Given the description of an element on the screen output the (x, y) to click on. 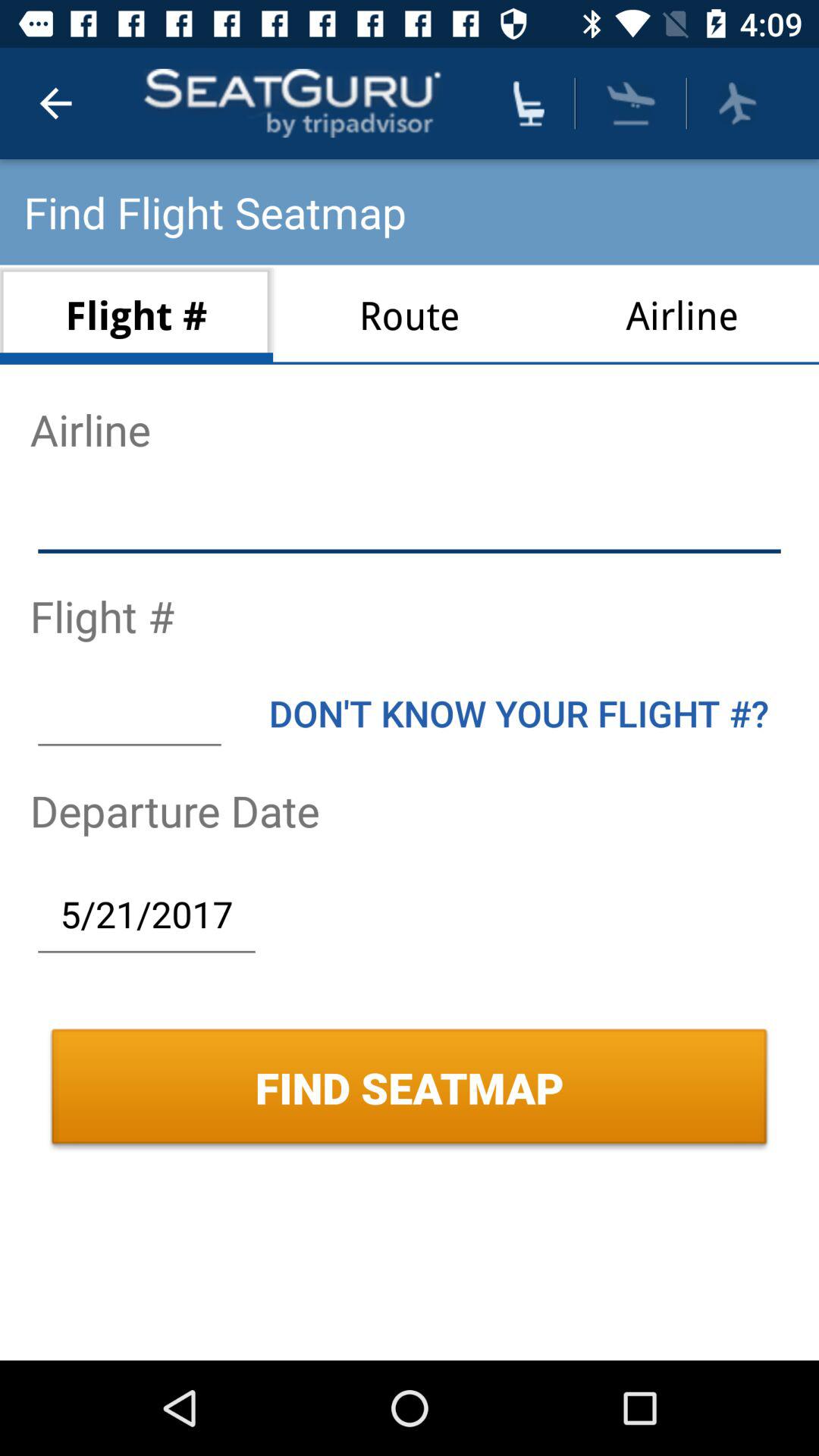
flight departure (737, 103)
